Given the description of an element on the screen output the (x, y) to click on. 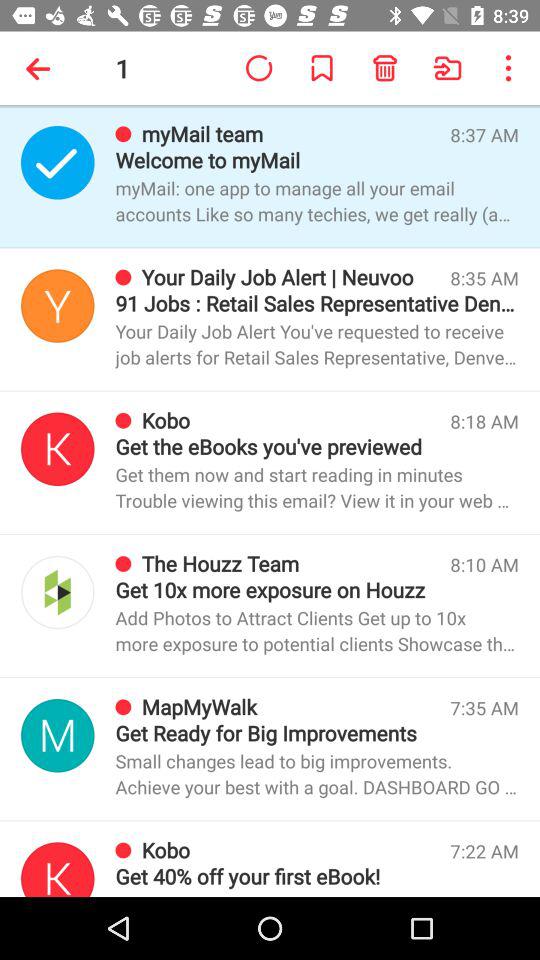
open kobo message (57, 869)
